Given the description of an element on the screen output the (x, y) to click on. 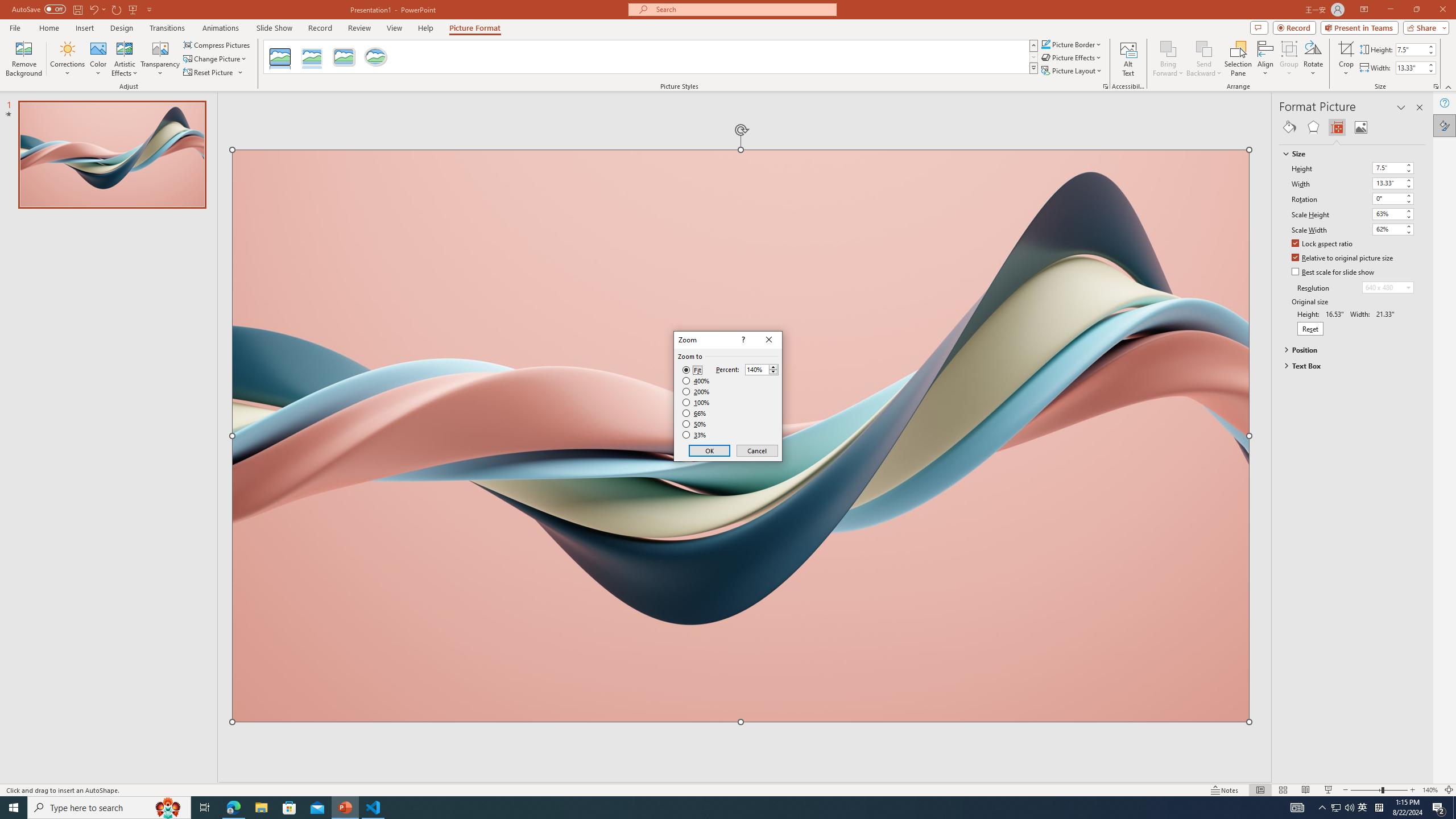
Color (97, 58)
Size (1347, 153)
Shape Height (1410, 49)
OK (709, 450)
Width (1393, 183)
